Given the description of an element on the screen output the (x, y) to click on. 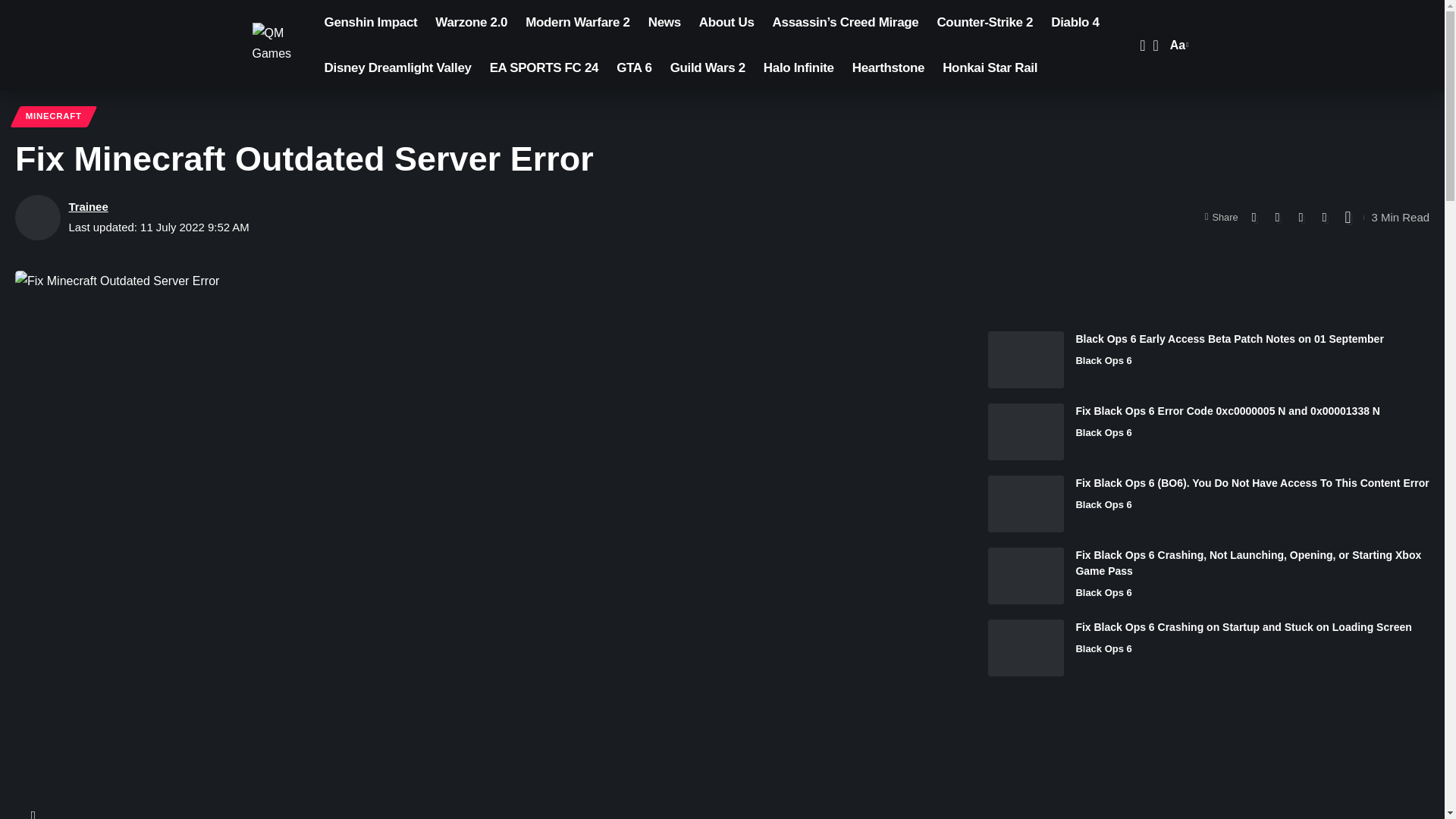
QM Games (275, 44)
Modern Warfare 2 (577, 22)
GTA 6 (1177, 45)
MINECRAFT (634, 67)
Diablo 4 (53, 116)
Warzone 2.0 (1075, 22)
Disney Dreamlight Valley (471, 22)
